Given the description of an element on the screen output the (x, y) to click on. 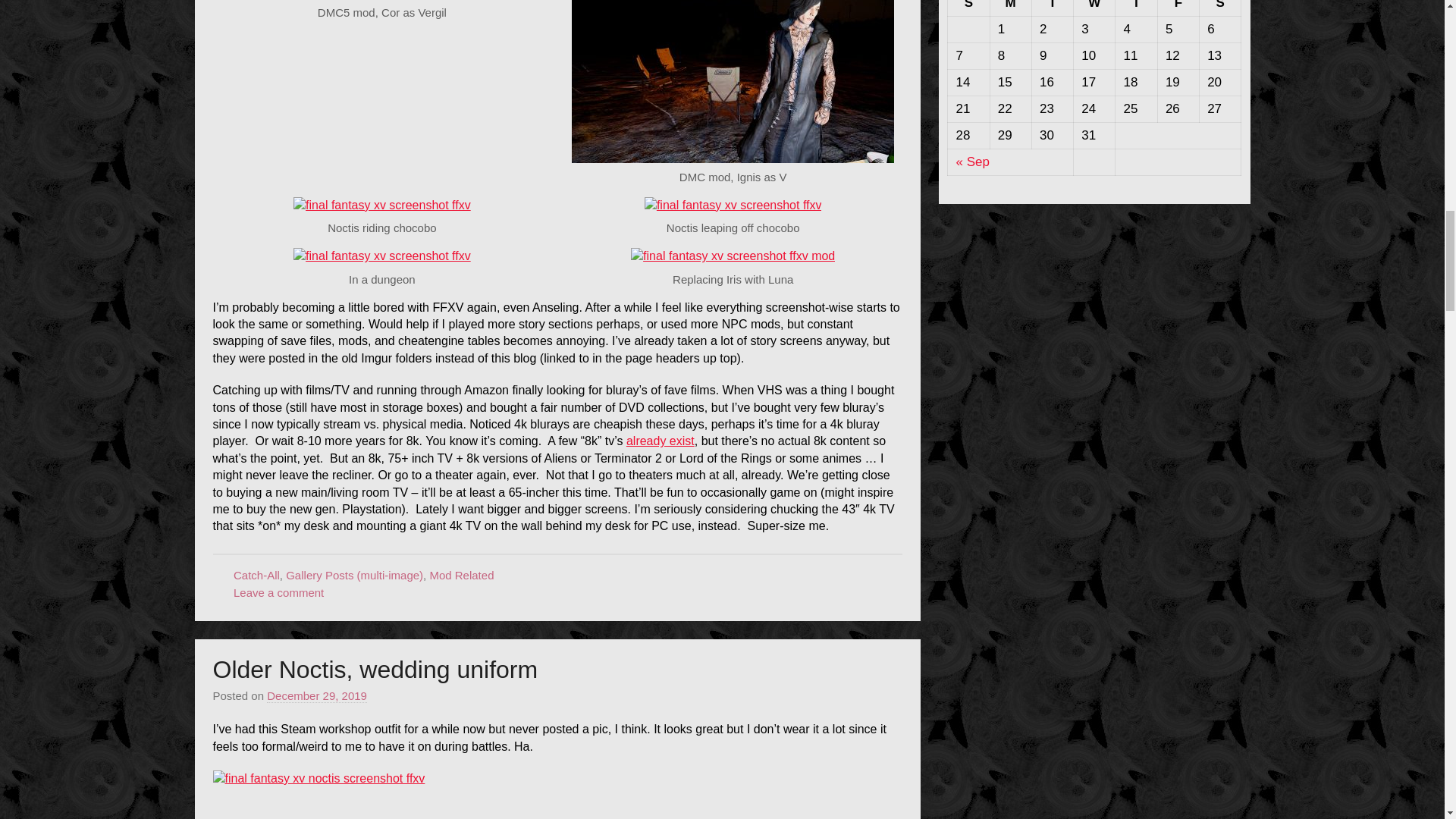
Tuesday (1051, 7)
Sunday (968, 7)
December 29, 2019 (316, 695)
Wednesday (1094, 7)
Thursday (1136, 7)
already exist (660, 440)
Catch-All (255, 574)
Older Noctis, wedding uniform (374, 669)
Leave a comment (277, 592)
Monday (1010, 7)
Mod Related (461, 574)
